Given the description of an element on the screen output the (x, y) to click on. 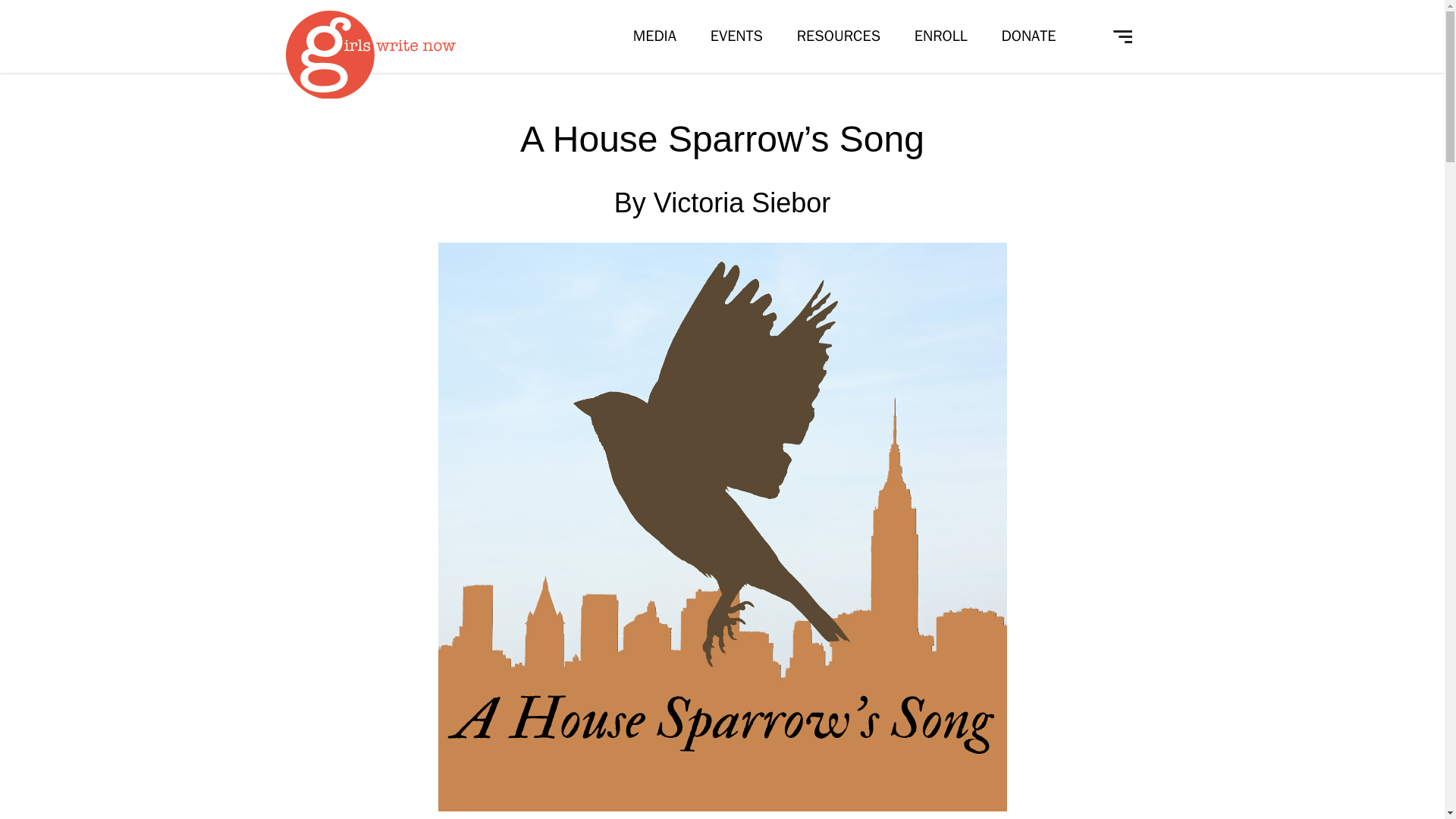
EVENTS (736, 35)
DONATE (1029, 35)
ENROLL (941, 35)
Search (514, 590)
MEDIA (655, 35)
RESOURCES (838, 35)
